Given the description of an element on the screen output the (x, y) to click on. 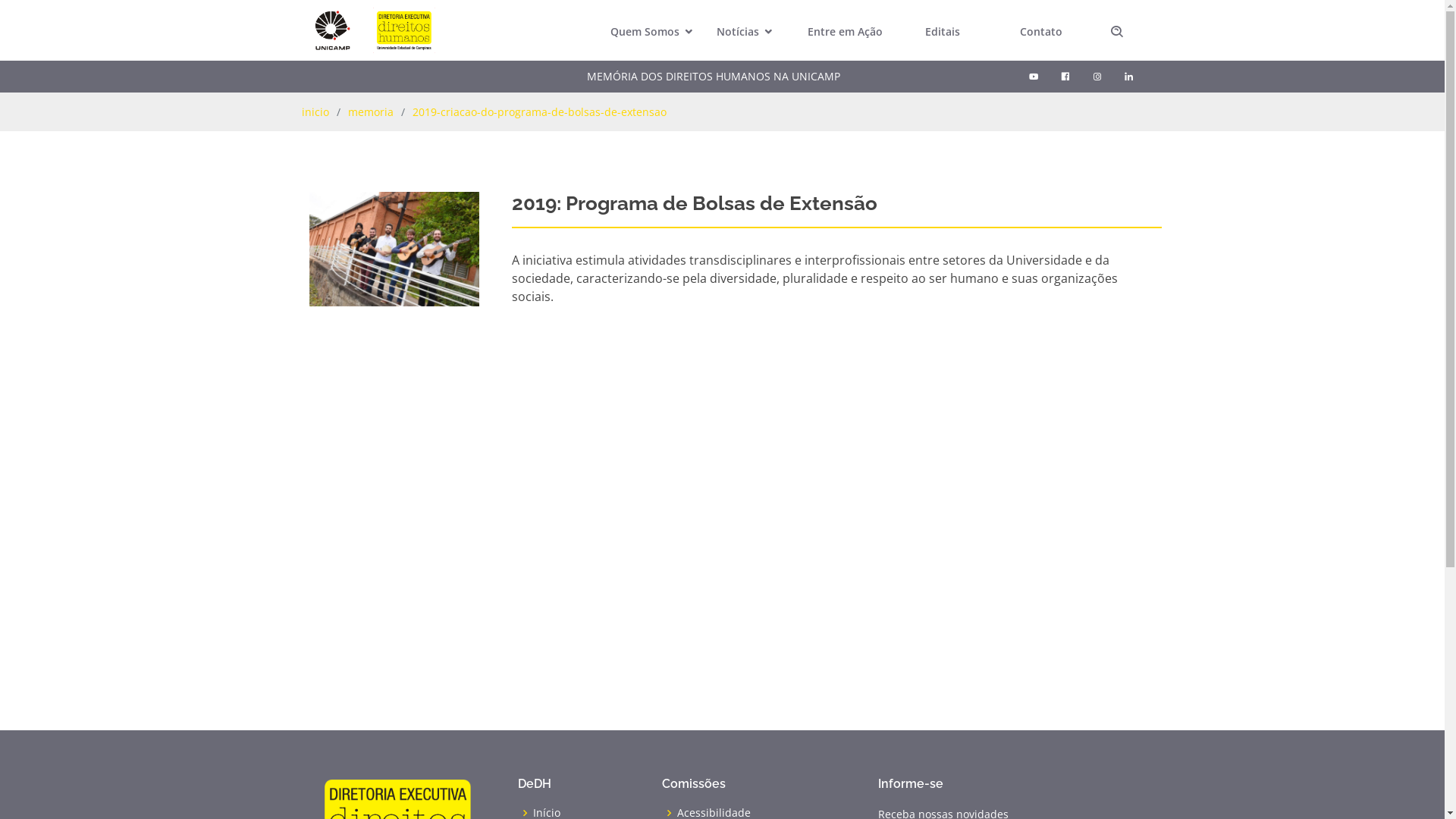
Contato Element type: text (1040, 31)
Acessibilidade Element type: text (712, 812)
2019-criacao-do-programa-de-bolsas-de-extensao Element type: text (539, 111)
inicio Element type: text (315, 111)
Quem Somos Element type: text (646, 31)
memoria Element type: text (369, 111)
Editais Element type: text (942, 31)
Busca Element type: hover (1116, 34)
